Given the description of an element on the screen output the (x, y) to click on. 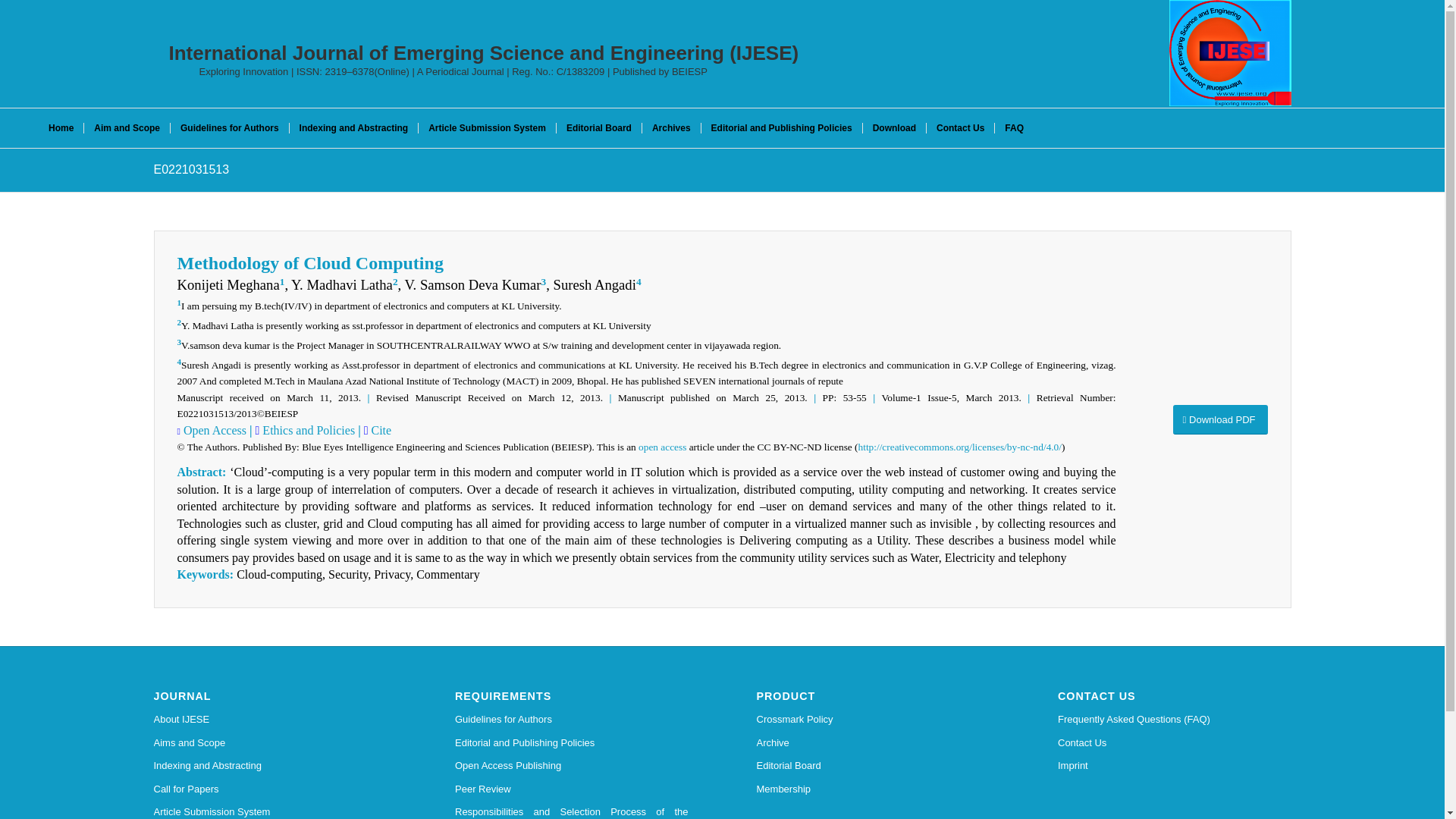
Download PDF (1219, 419)
E0221031513 (190, 169)
Editorial and Publishing Policies (571, 743)
Contact Us (1174, 743)
Open Access Publishing (571, 765)
Guidelines for Authors (229, 127)
Ethics and Policies (307, 430)
Indexing and Abstracting (269, 765)
Crossmark Policy (873, 719)
Guidelines for Authors (571, 719)
Cite (379, 430)
Article Submission System (269, 809)
Archive (873, 743)
Archives (671, 127)
Aim and Scope (126, 127)
